Given the description of an element on the screen output the (x, y) to click on. 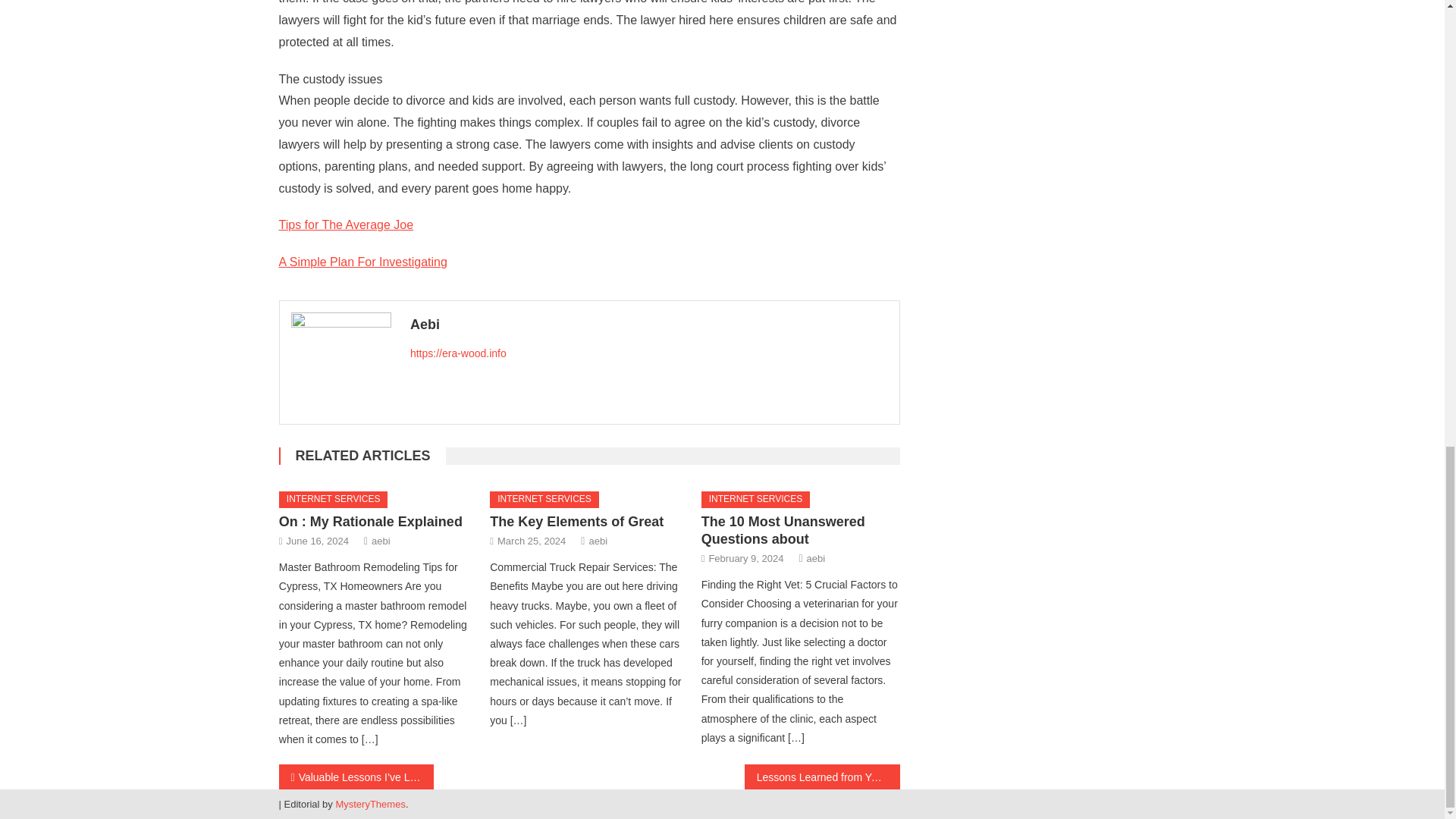
Lessons Learned from Years with (821, 776)
aebi (380, 540)
June 16, 2024 (317, 540)
INTERNET SERVICES (333, 499)
INTERNET SERVICES (755, 499)
On : My Rationale Explained (371, 521)
March 25, 2024 (531, 540)
aebi (597, 540)
aebi (815, 558)
A Simple Plan For Investigating (362, 261)
Aebi (649, 324)
INTERNET SERVICES (543, 499)
February 9, 2024 (745, 558)
The 10 Most Unanswered Questions about (782, 530)
The Key Elements of Great (576, 521)
